Given the description of an element on the screen output the (x, y) to click on. 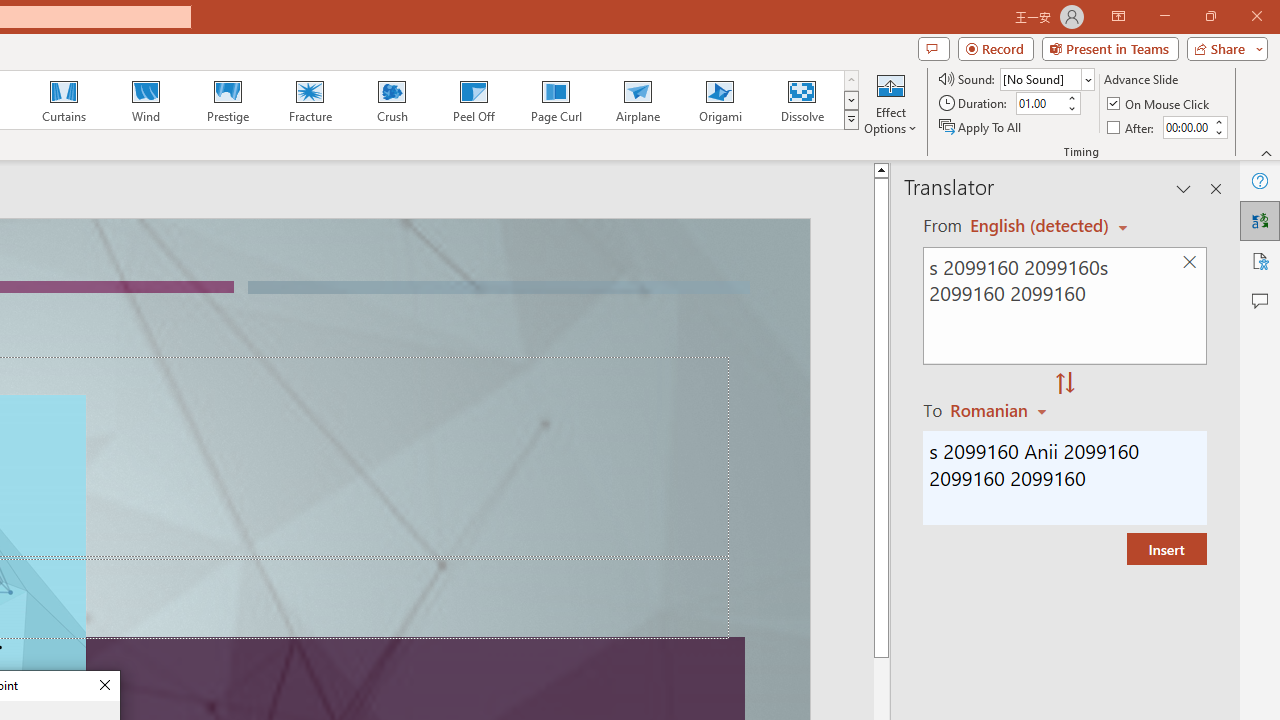
Peel Off (473, 100)
Wind (145, 100)
Prestige (227, 100)
Page Curl (555, 100)
Duration (1039, 103)
Curtains (63, 100)
